Given the description of an element on the screen output the (x, y) to click on. 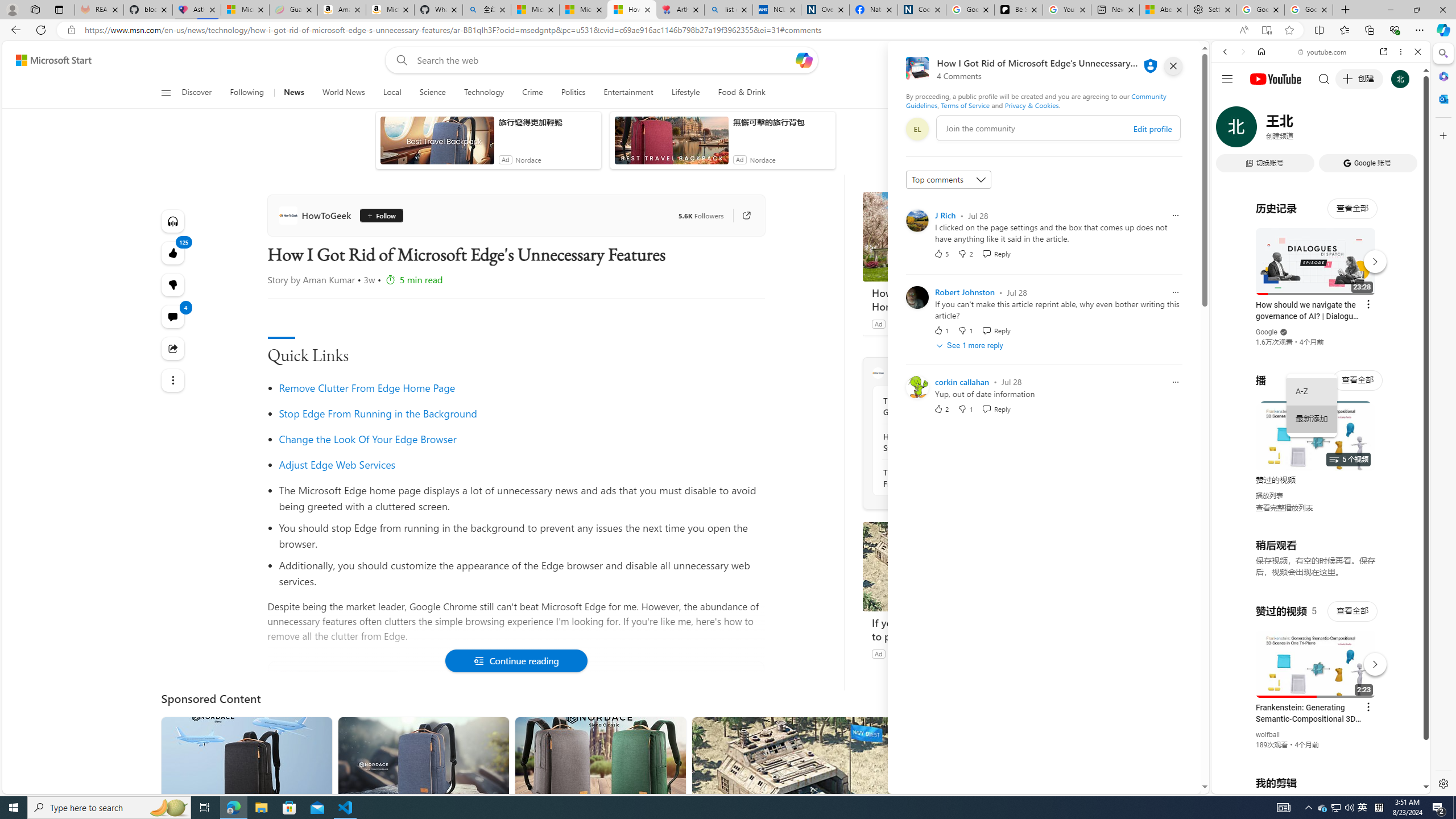
#you (1315, 659)
Entertainment (627, 92)
Show More Music (1390, 310)
Go to publisher's site (740, 215)
Global web icon (1232, 655)
Asthma Inhalers: Names and Types (196, 9)
SEARCH TOOLS (1350, 130)
Robert Johnston (964, 292)
IMAGES (1262, 130)
